Given the description of an element on the screen output the (x, y) to click on. 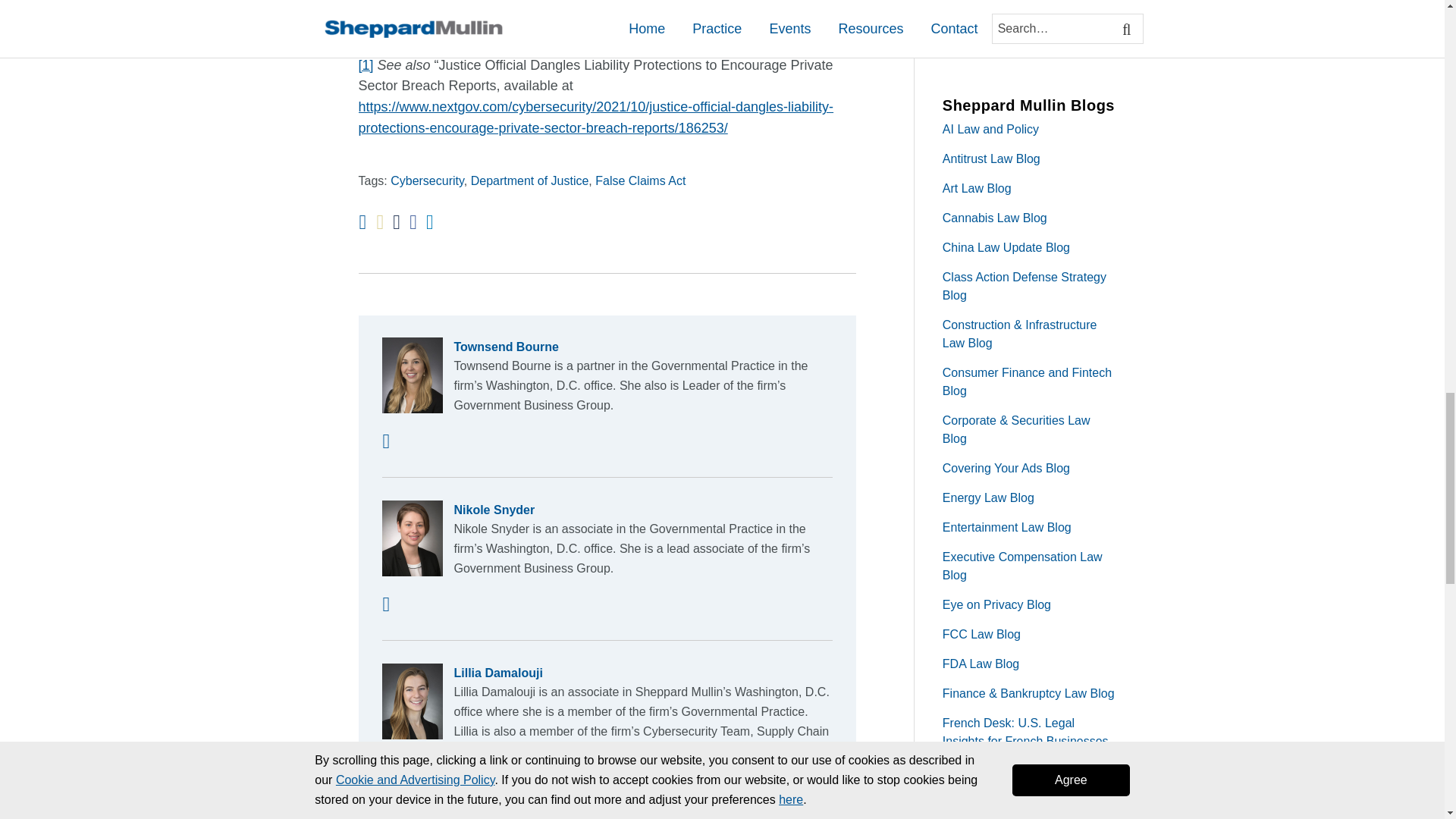
Cybersecurity (427, 180)
Nikole Snyder (606, 510)
False Claims Act (640, 180)
Department of Justice (529, 180)
Townsend Bourne (606, 347)
